Given the description of an element on the screen output the (x, y) to click on. 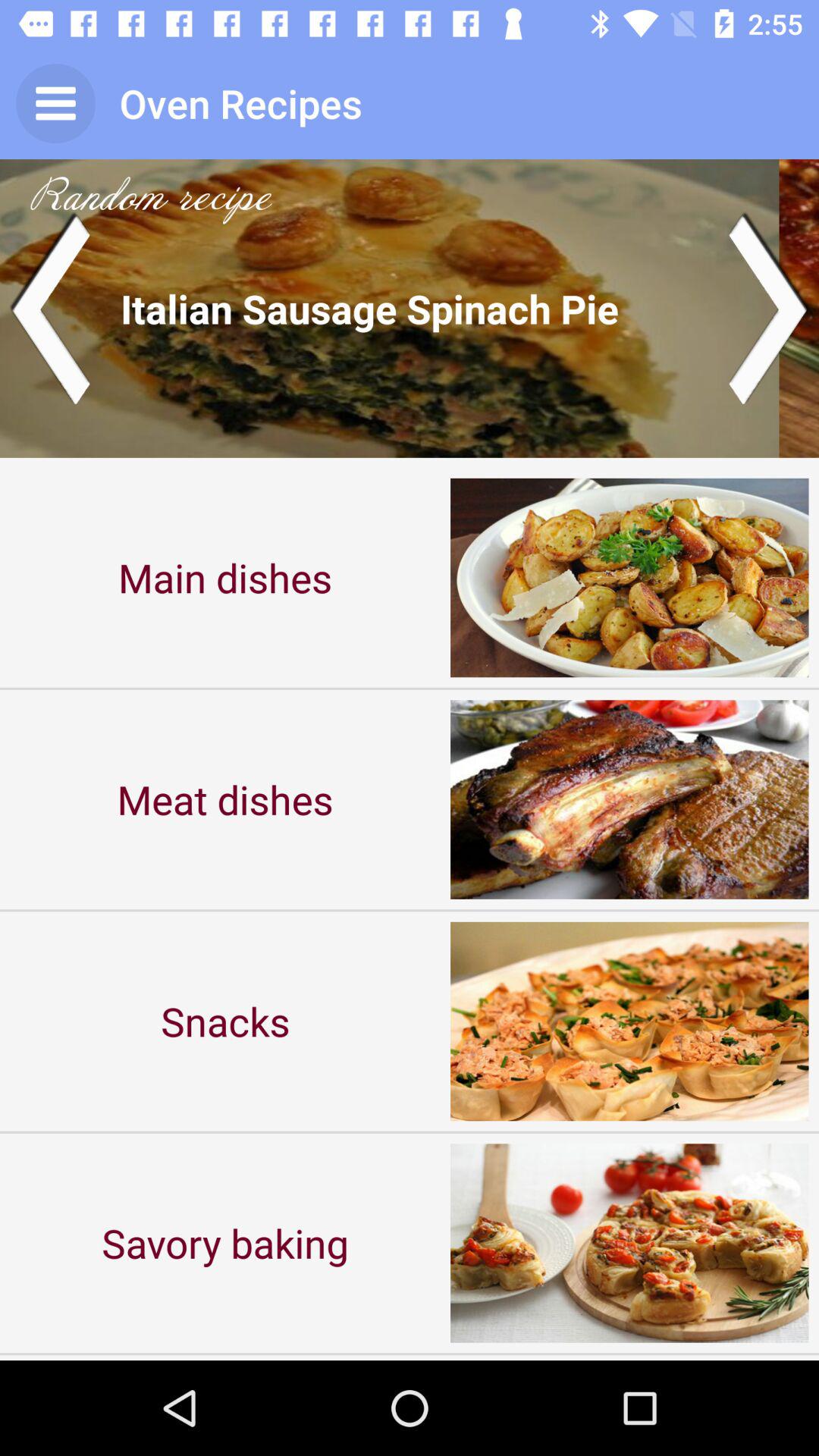
select the item below the snacks (225, 1242)
